Given the description of an element on the screen output the (x, y) to click on. 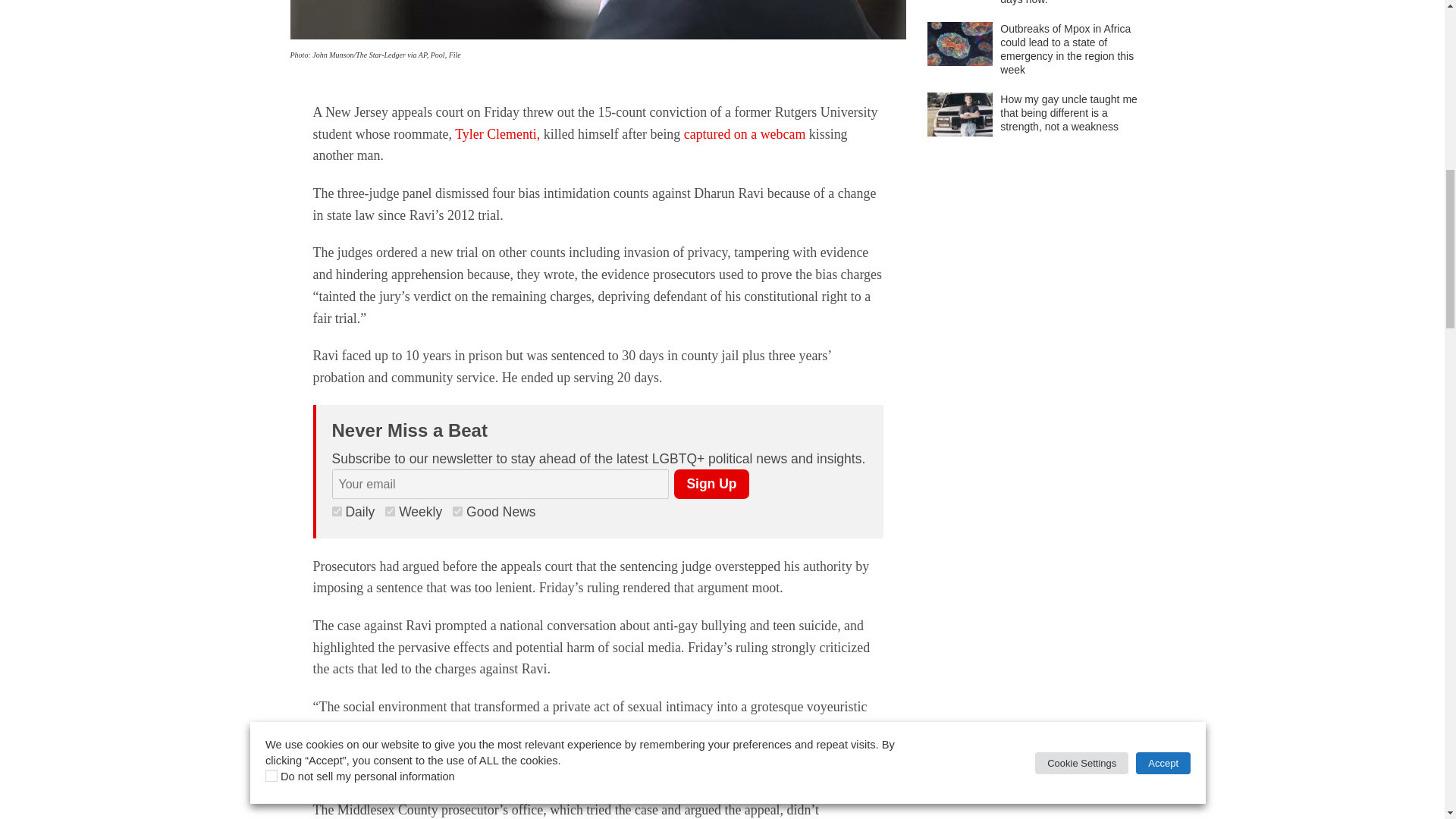
captured on a webcam (745, 133)
1920884 (389, 511)
1920883 (457, 511)
Rutgers Suicide (597, 19)
Tyler Clementi, (497, 133)
Sign Up (711, 483)
1920885 (336, 511)
